Given the description of an element on the screen output the (x, y) to click on. 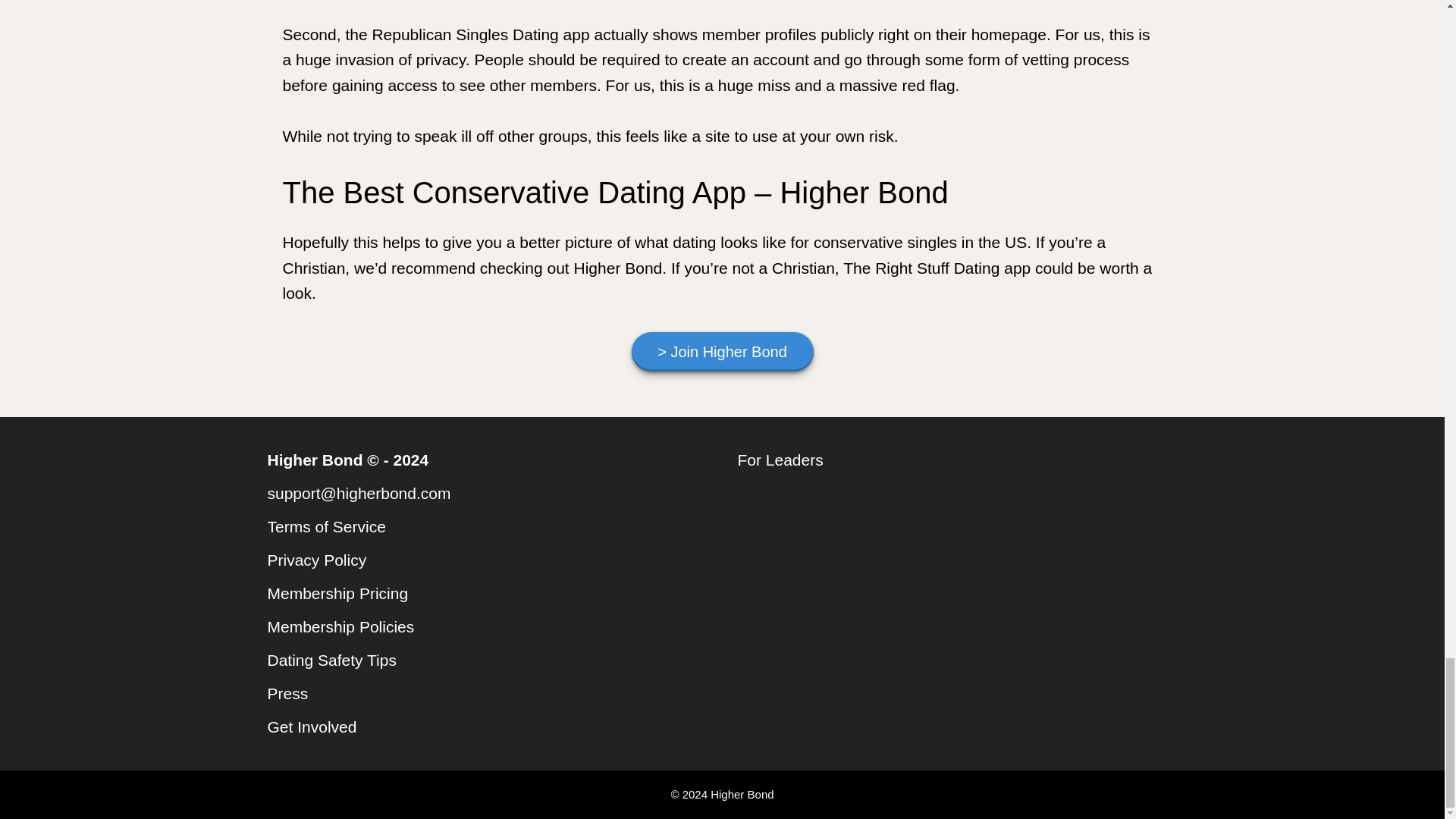
Terms of Service (325, 526)
Membership Pricing (336, 592)
Get Involved (311, 726)
Dating Safety Tips (331, 660)
Press (286, 692)
Membership Policies (339, 626)
For Leaders (779, 459)
Privacy Policy (316, 559)
